Given the description of an element on the screen output the (x, y) to click on. 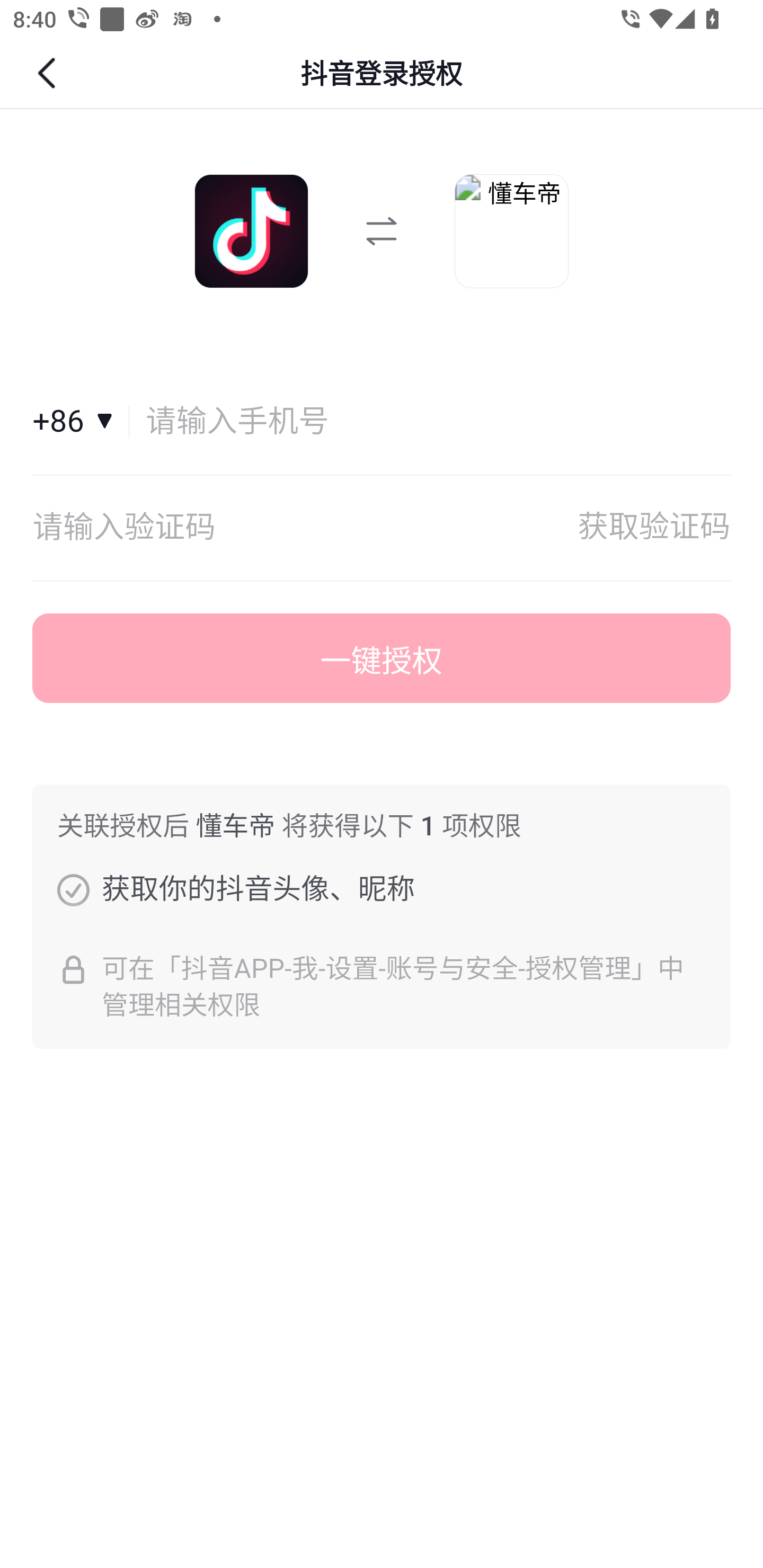
返回 (49, 72)
国家和地区+86 (81, 421)
获取验证码 (653, 527)
一键授权 (381, 658)
获取你的抖音头像、昵称 (72, 889)
